Given the description of an element on the screen output the (x, y) to click on. 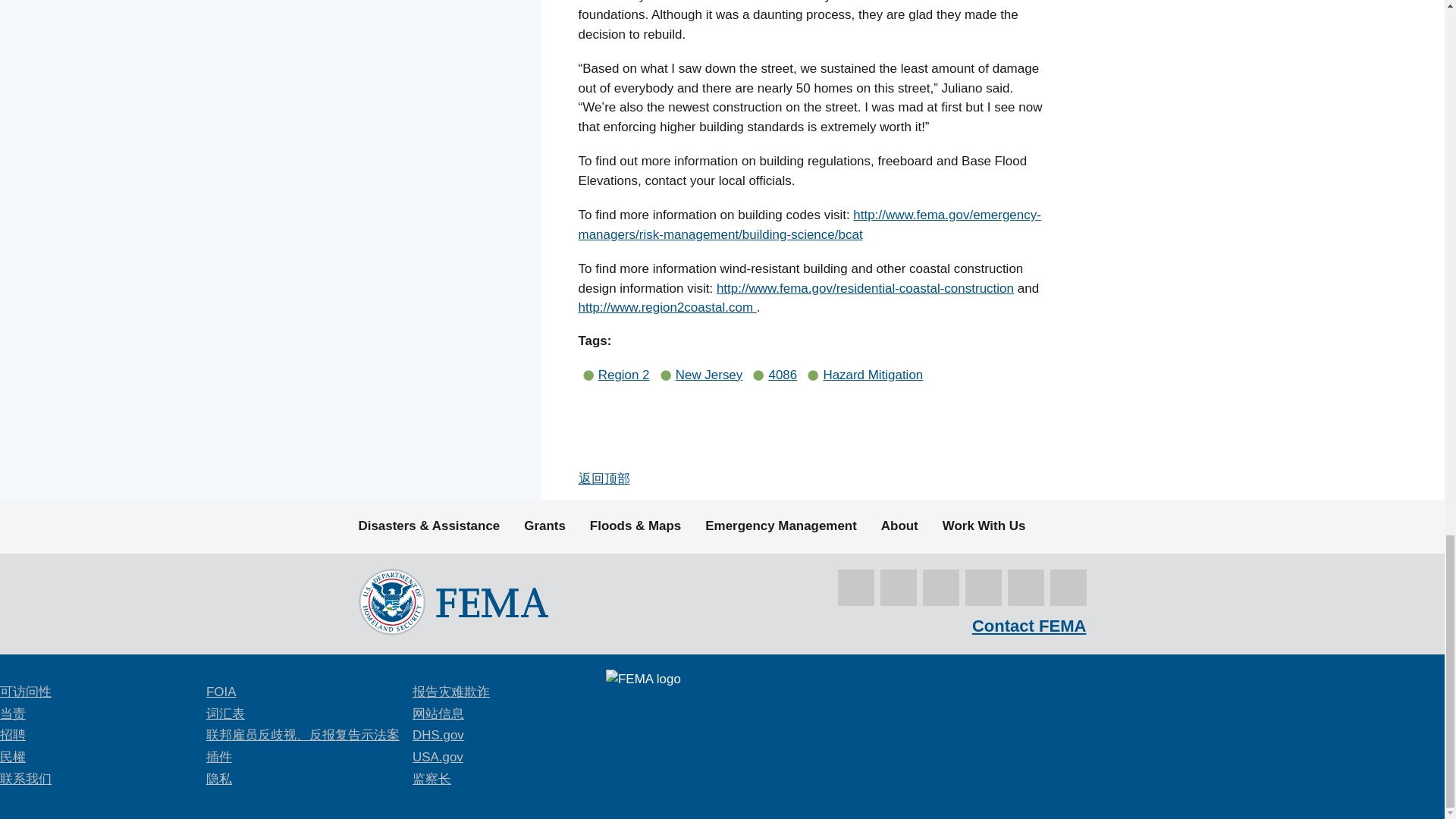
FEMA logo (452, 601)
